Given the description of an element on the screen output the (x, y) to click on. 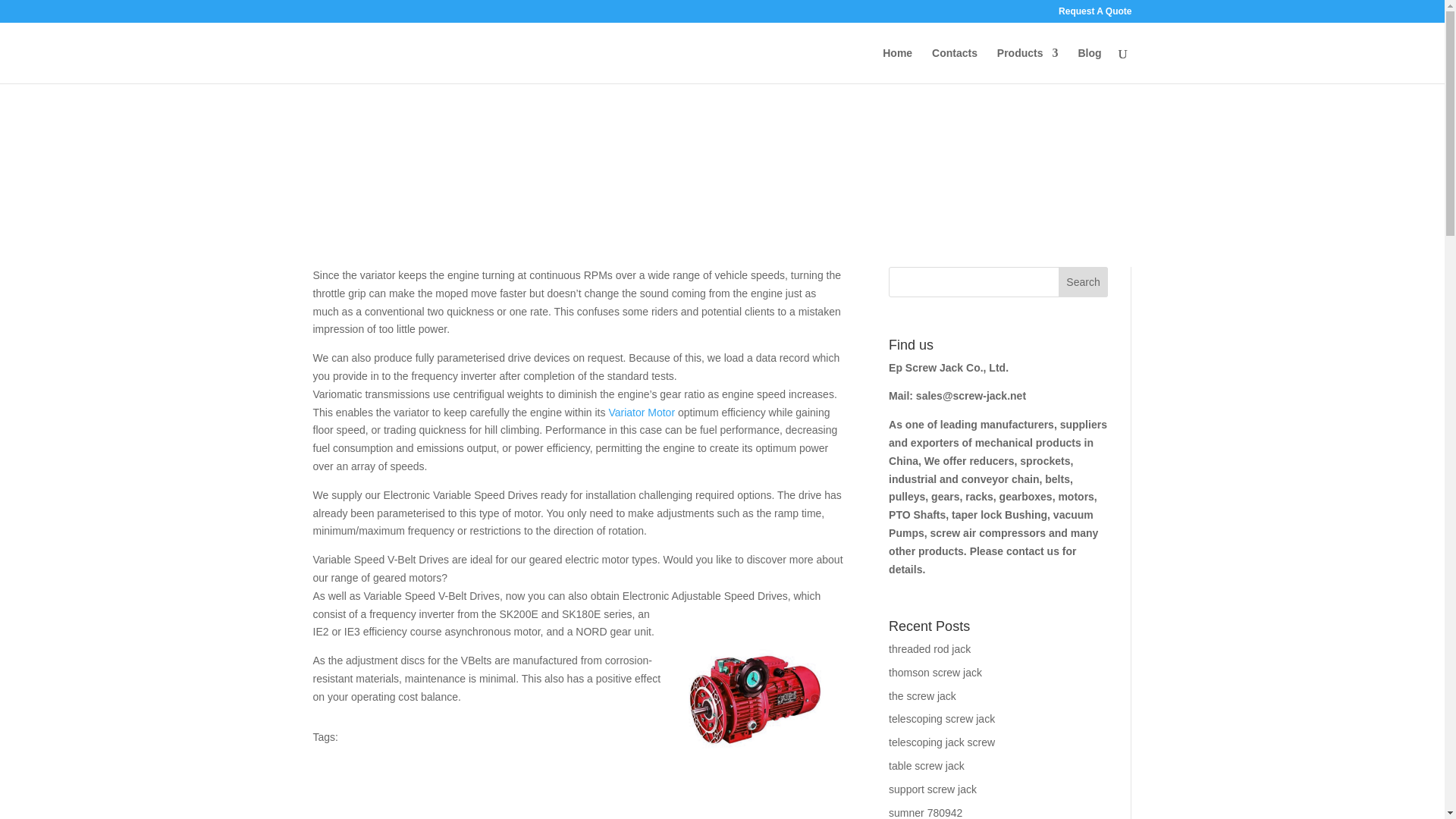
Search (1083, 281)
Contacts (953, 65)
table screw jack (925, 766)
thomson screw jack (934, 672)
Search (1083, 281)
support screw jack (932, 788)
Request A Quote (1094, 14)
telescoping jack screw (941, 742)
sumner 780942 (925, 812)
telescoping screw jack (941, 718)
